Given the description of an element on the screen output the (x, y) to click on. 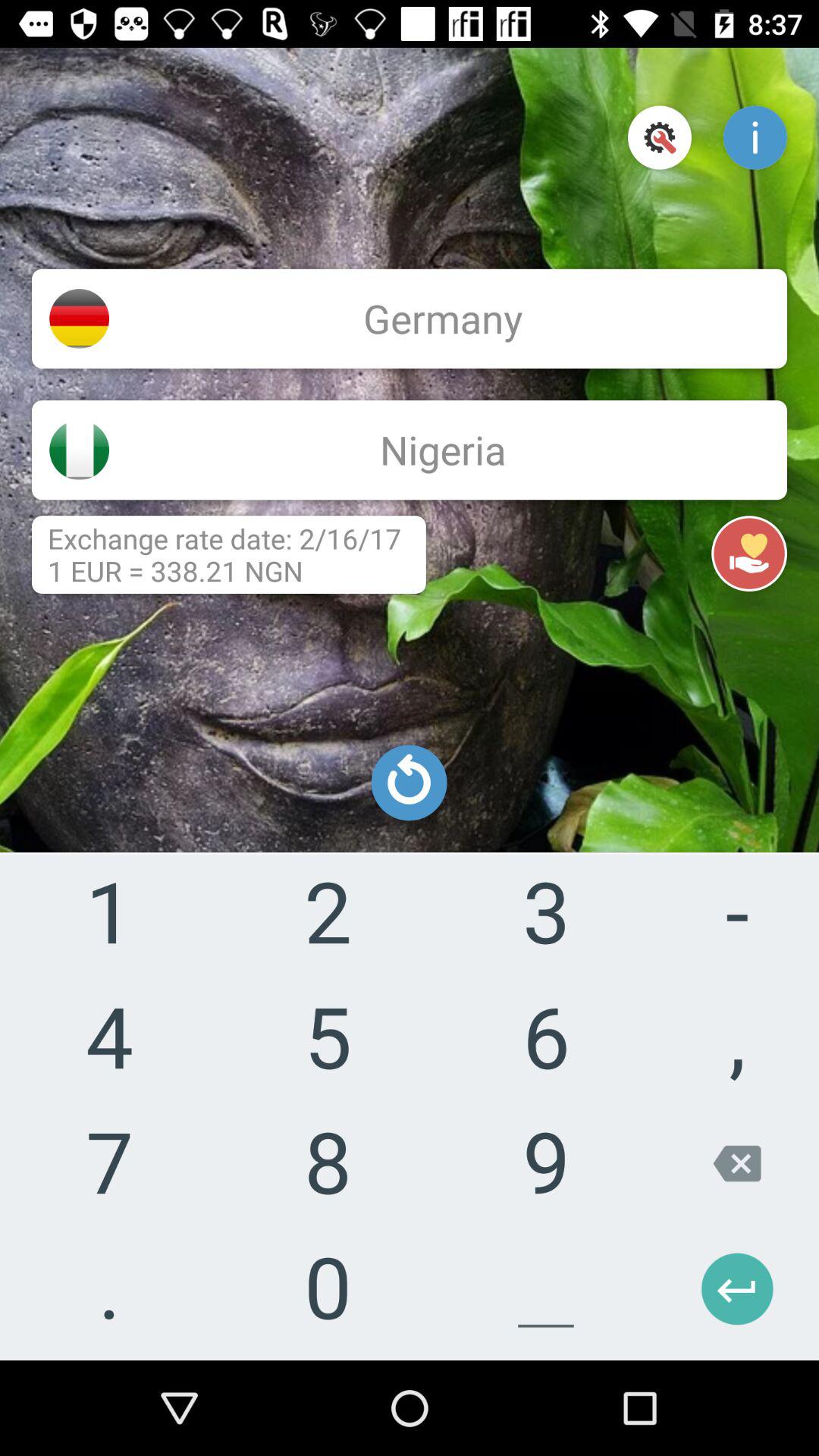
click the first button on the top right corner of the web page (659, 138)
